Given the description of an element on the screen output the (x, y) to click on. 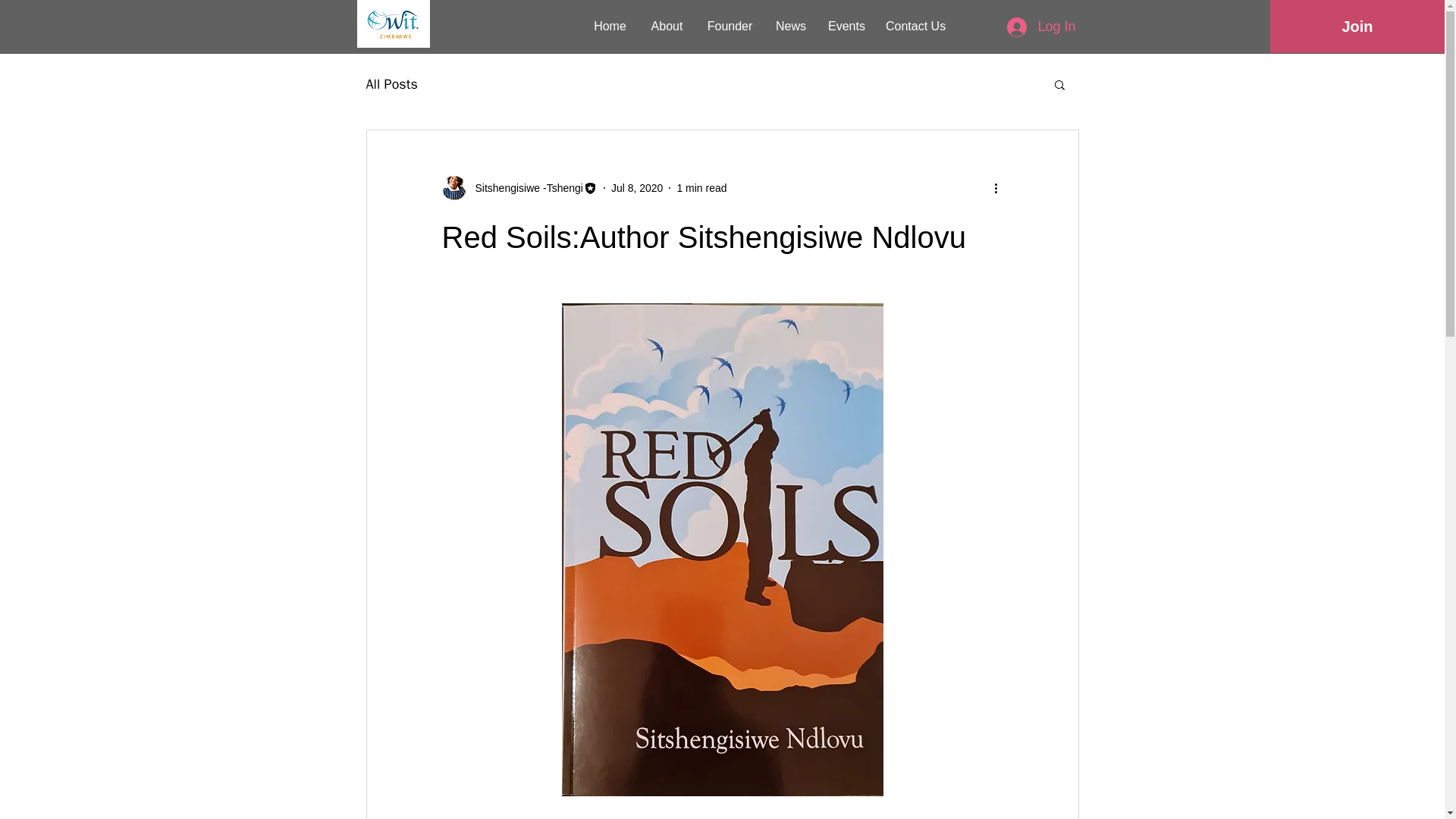
Sitshengisiwe -Tshengi (523, 188)
Home (609, 26)
Jul 8, 2020 (637, 187)
All Posts (390, 84)
Contact Us (915, 26)
Founder (729, 26)
Sitshengisiwe -Tshengi (518, 187)
1 min read (701, 187)
About (667, 26)
News (790, 26)
